Given the description of an element on the screen output the (x, y) to click on. 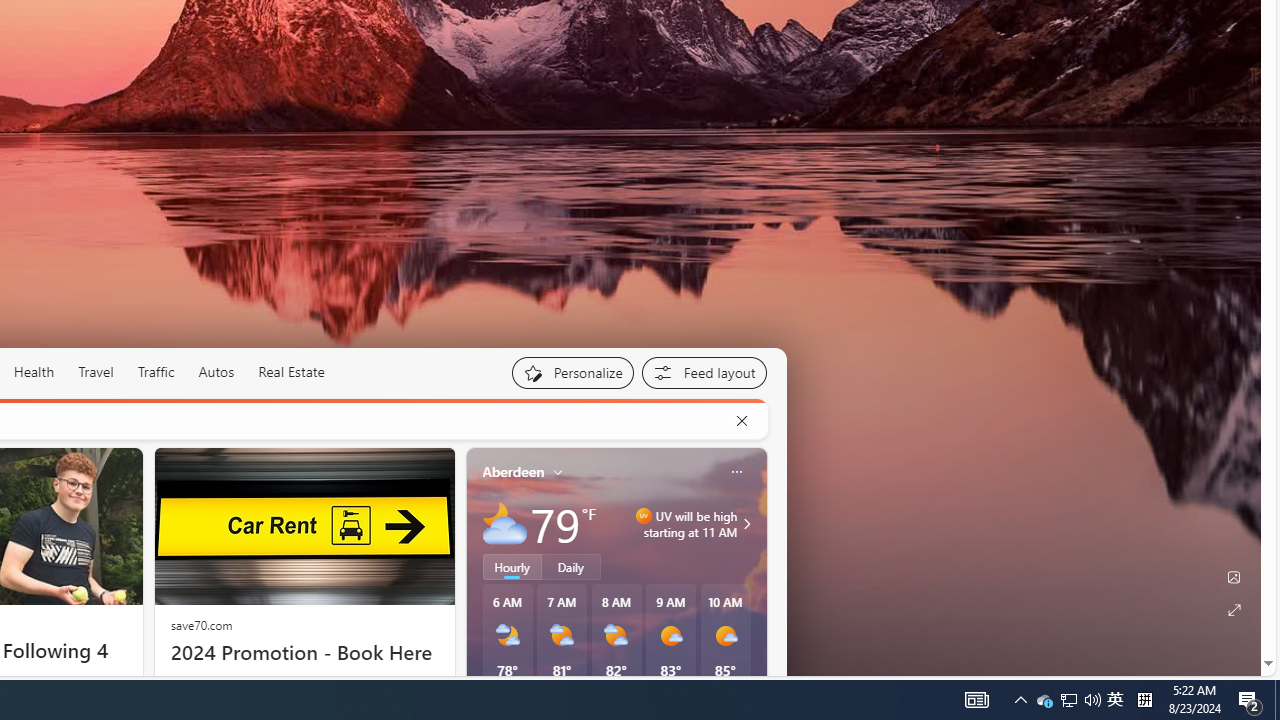
Traffic (155, 372)
Travel (95, 371)
Autos (215, 371)
Cancel (741, 421)
Feed settings (703, 372)
Health (33, 372)
Travel (95, 372)
